Given the description of an element on the screen output the (x, y) to click on. 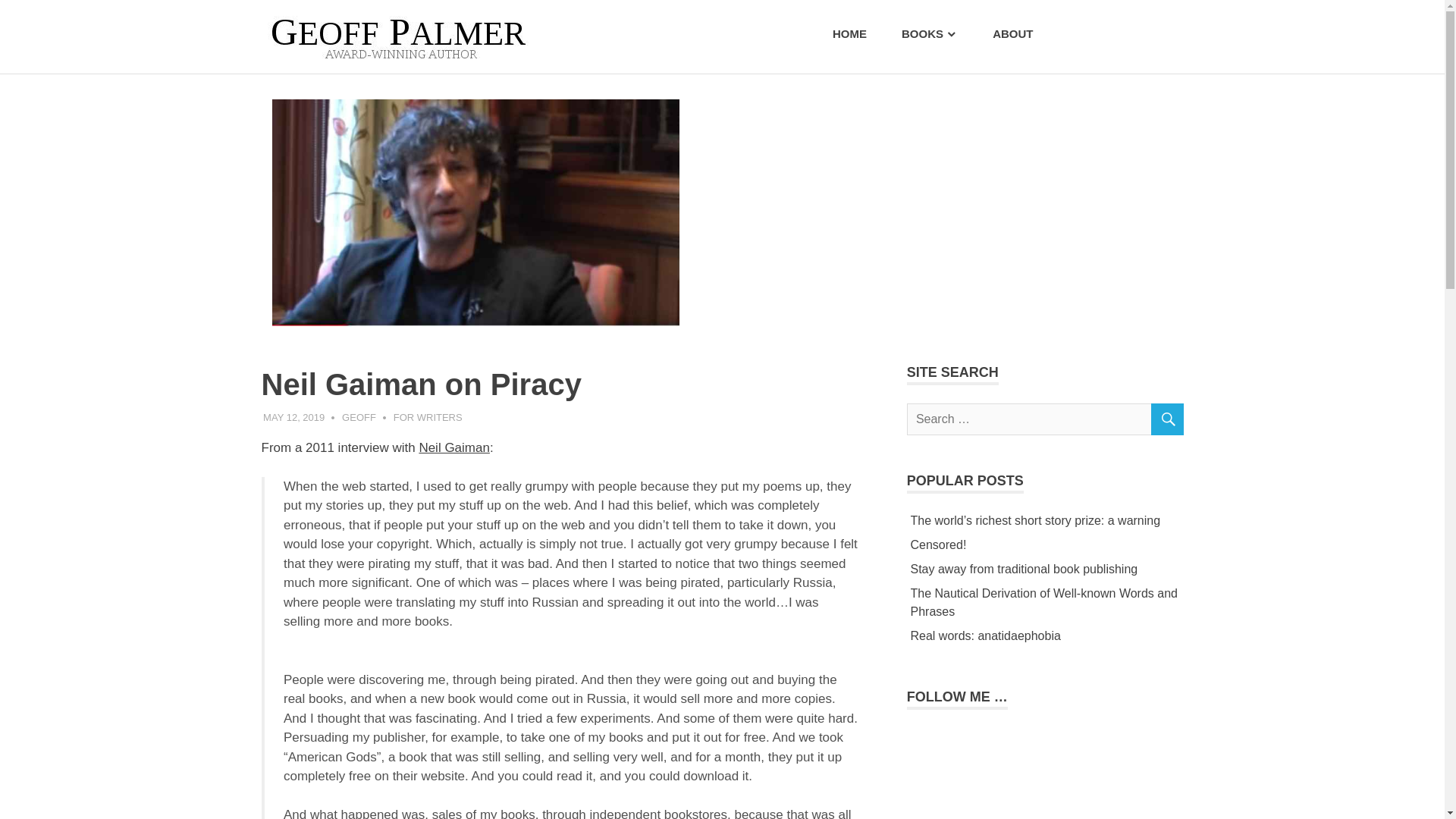
5:28 pm (293, 417)
Censored! (938, 544)
View all posts by Geoff (358, 417)
GEOFF (358, 417)
Stay away from traditional book publishing (1023, 568)
HOME (845, 34)
Search for: (1045, 418)
ABOUT (1008, 34)
MAY 12, 2019 (293, 417)
The Nautical Derivation of Well-known Words and Phrases (1043, 602)
FOR WRITERS (428, 417)
BOOKS (925, 34)
Neil Gaiman (454, 447)
Real words: anatidaephobia (984, 635)
